Given the description of an element on the screen output the (x, y) to click on. 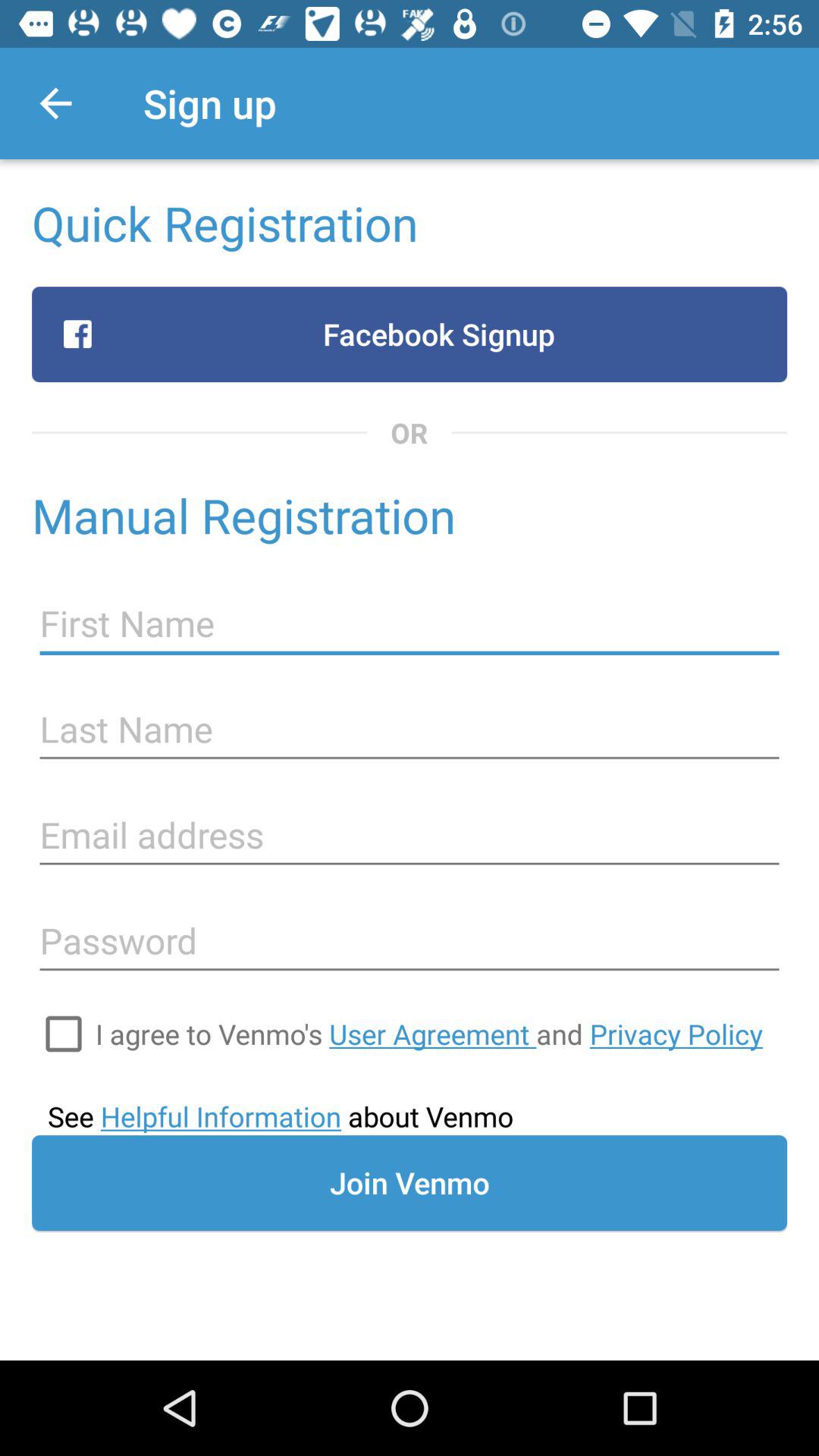
select the text right to the check box (428, 1033)
select check box (63, 1034)
go to the field below last name (409, 835)
select the field below first name (409, 729)
